Given the description of an element on the screen output the (x, y) to click on. 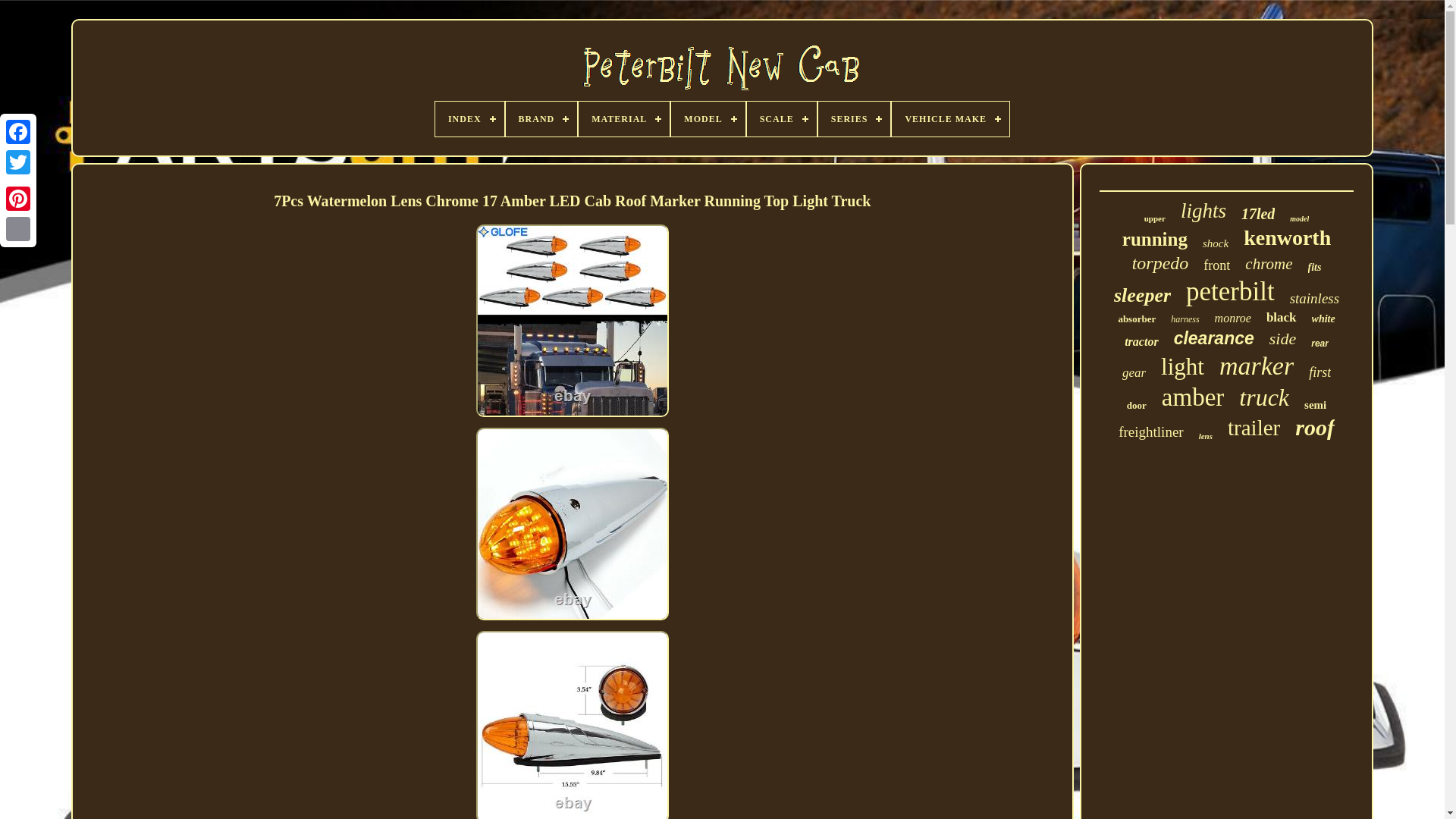
MATERIAL (623, 118)
BRAND (541, 118)
INDEX (469, 118)
